Given the description of an element on the screen output the (x, y) to click on. 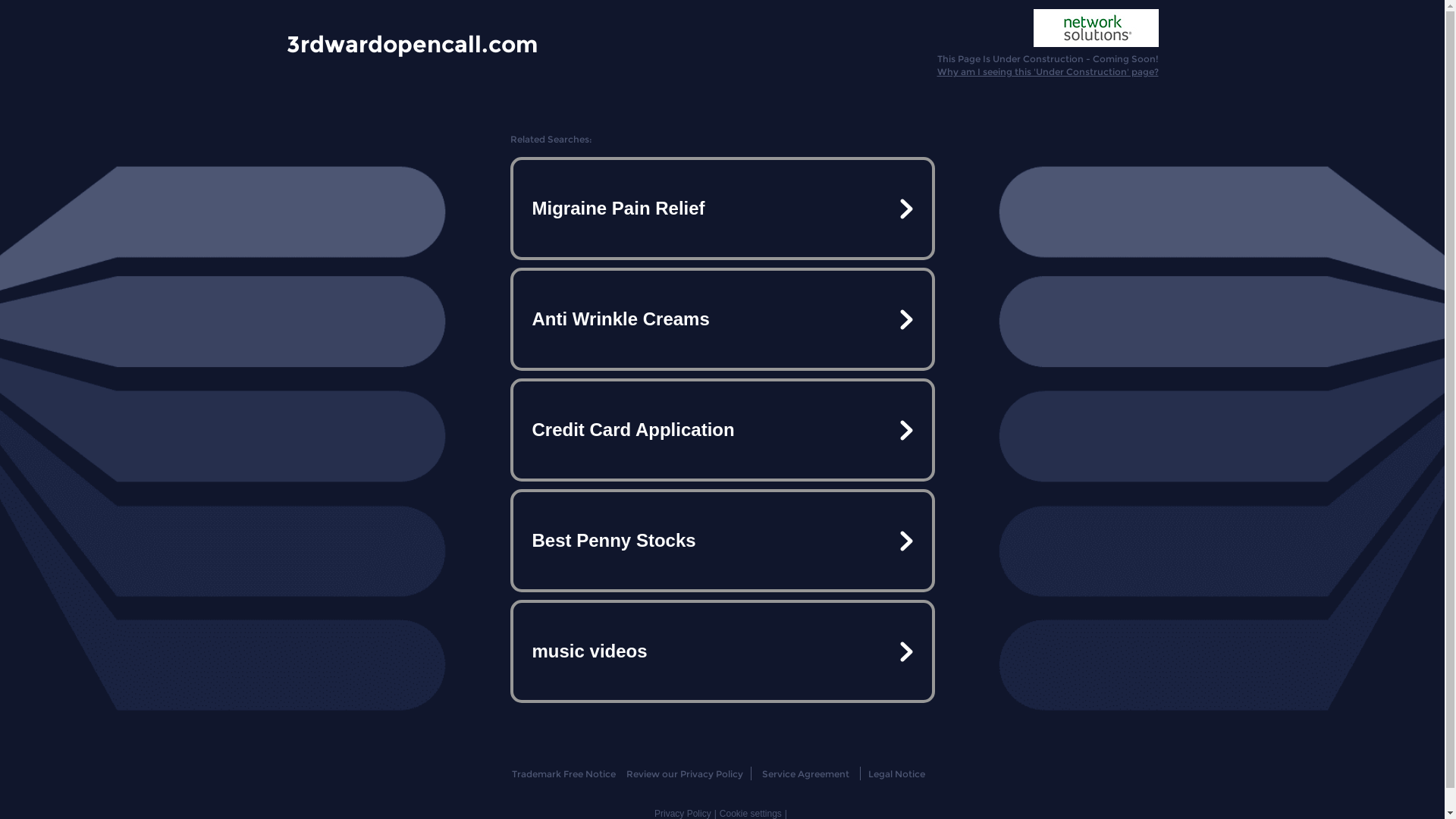
Migraine Pain Relief Element type: text (721, 208)
Best Penny Stocks Element type: text (721, 540)
Service Agreement Element type: text (805, 773)
Trademark Free Notice Element type: text (563, 773)
Anti Wrinkle Creams Element type: text (721, 318)
3rdwardopencall.com Element type: text (411, 43)
music videos Element type: text (721, 650)
Legal Notice Element type: text (896, 773)
Review our Privacy Policy Element type: text (684, 773)
Why am I seeing this 'Under Construction' page? Element type: text (1047, 71)
Credit Card Application Element type: text (721, 429)
